Given the description of an element on the screen output the (x, y) to click on. 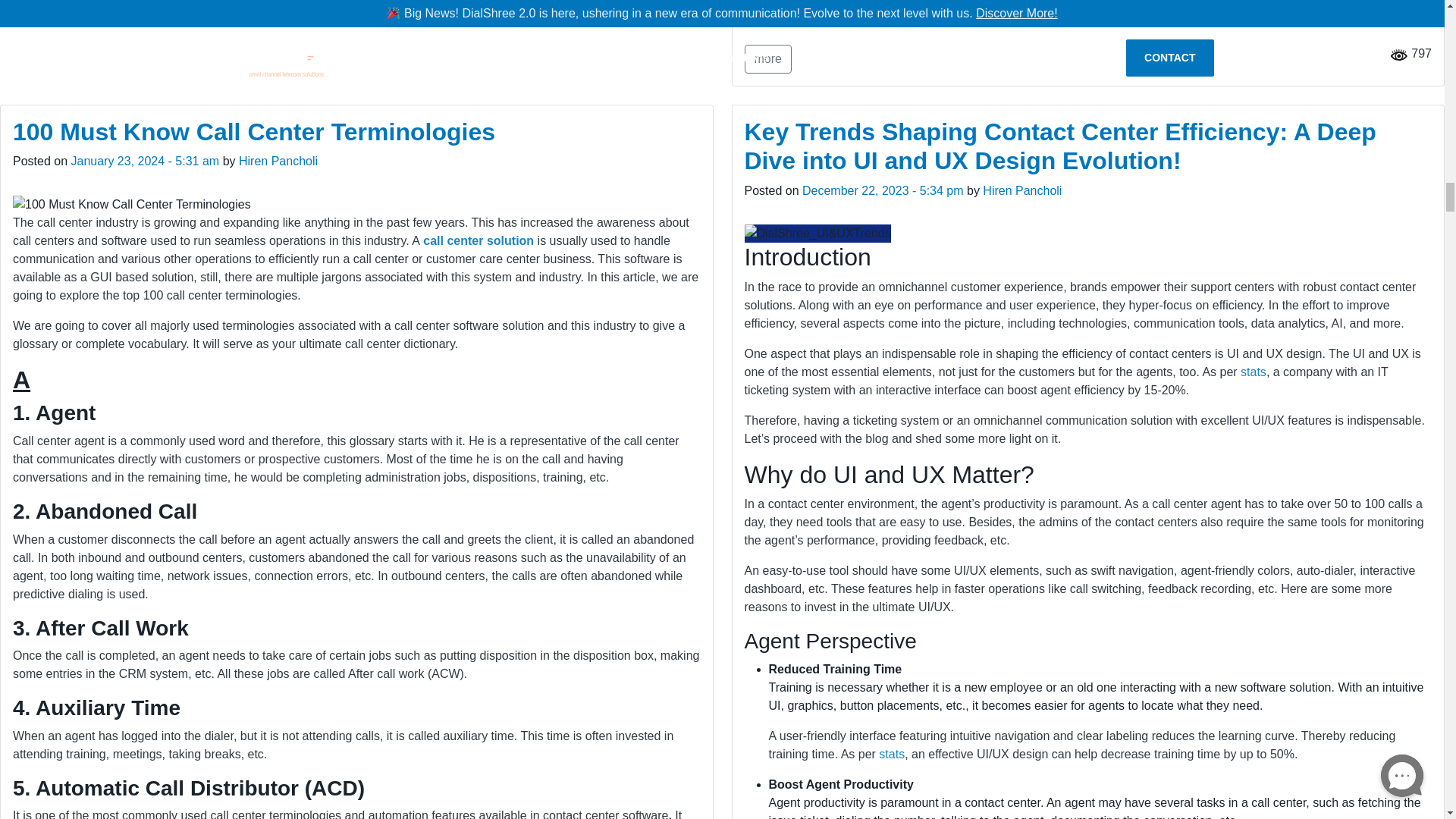
January 23, 2024 - 5:31 am (145, 160)
Permalink to 100 Must Know Call Center Terminologies (254, 131)
December 22, 2023 - 5:34 pm (882, 190)
View all posts by Hiren Pancholi (277, 160)
View all posts by Hiren Pancholi (1021, 190)
